Given the description of an element on the screen output the (x, y) to click on. 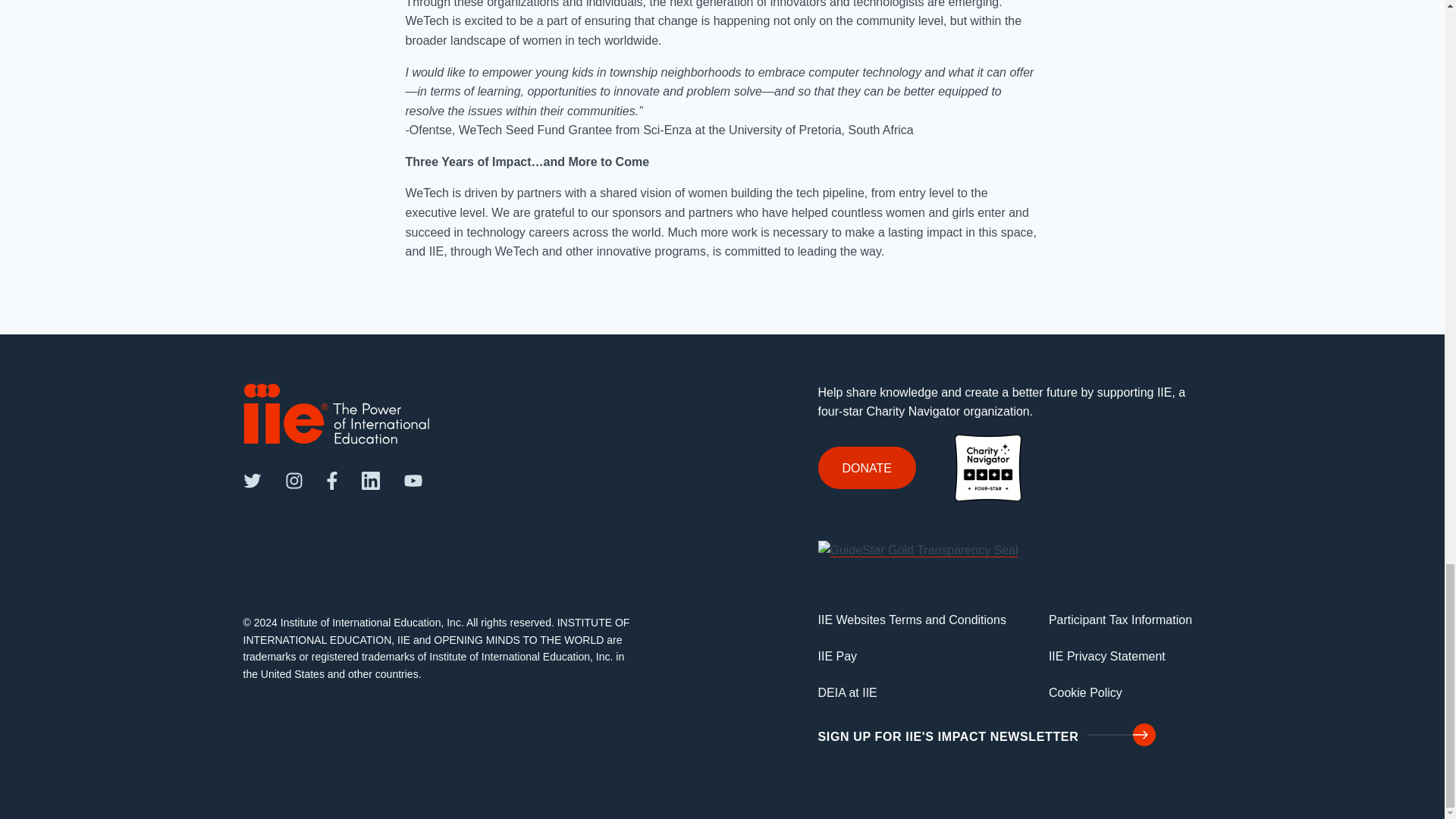
View IIE on GuideStar (916, 549)
View IIE on the Charity Navigator (987, 466)
